Given the description of an element on the screen output the (x, y) to click on. 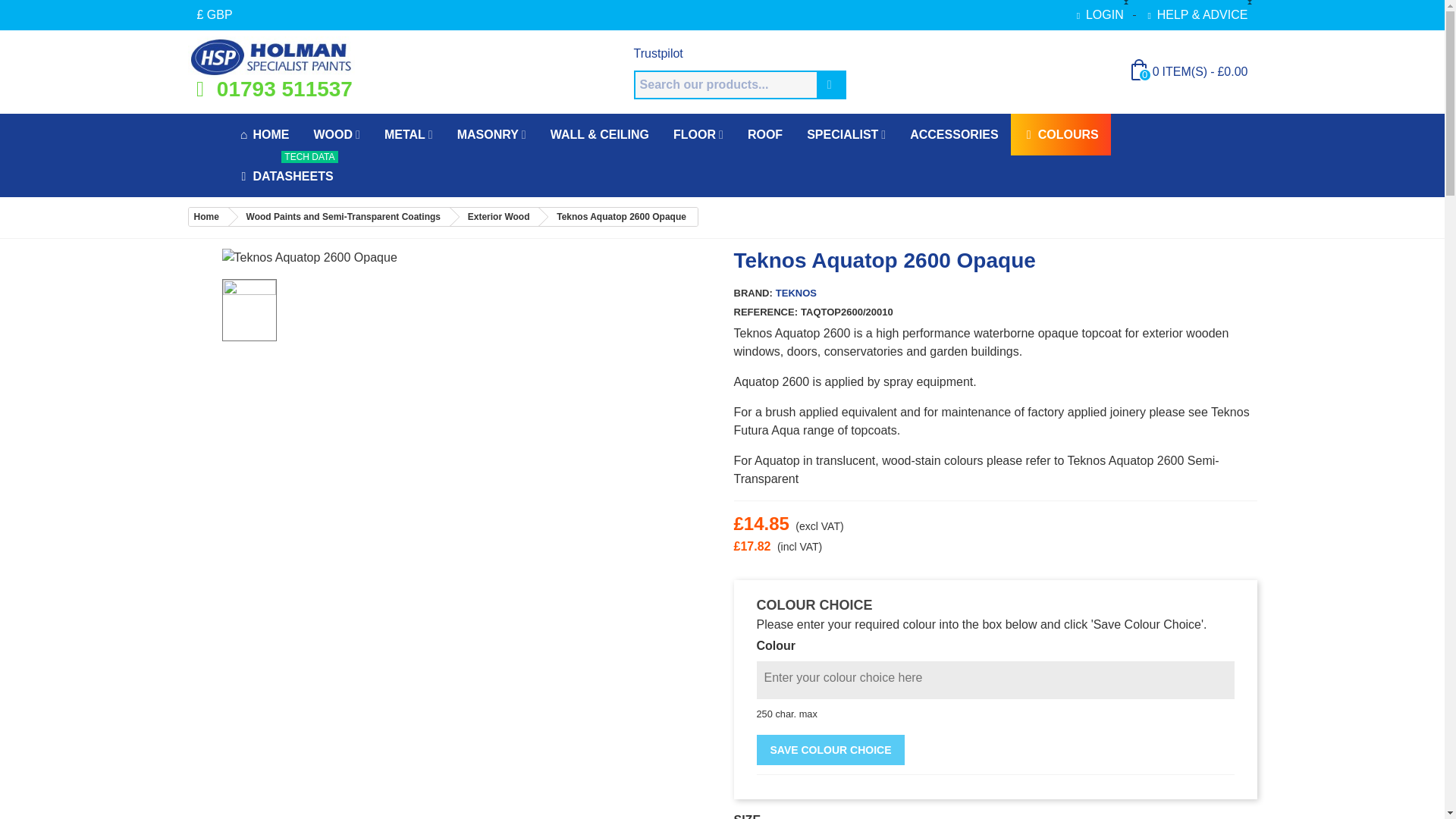
LOGIN (1098, 15)
FLOOR (698, 134)
WOOD (336, 134)
Holman Specialist Paints (271, 56)
HOME (263, 134)
METAL (408, 134)
Trustpilot (657, 52)
Log in to your customer account (1098, 15)
MASONRY (491, 134)
